Given the description of an element on the screen output the (x, y) to click on. 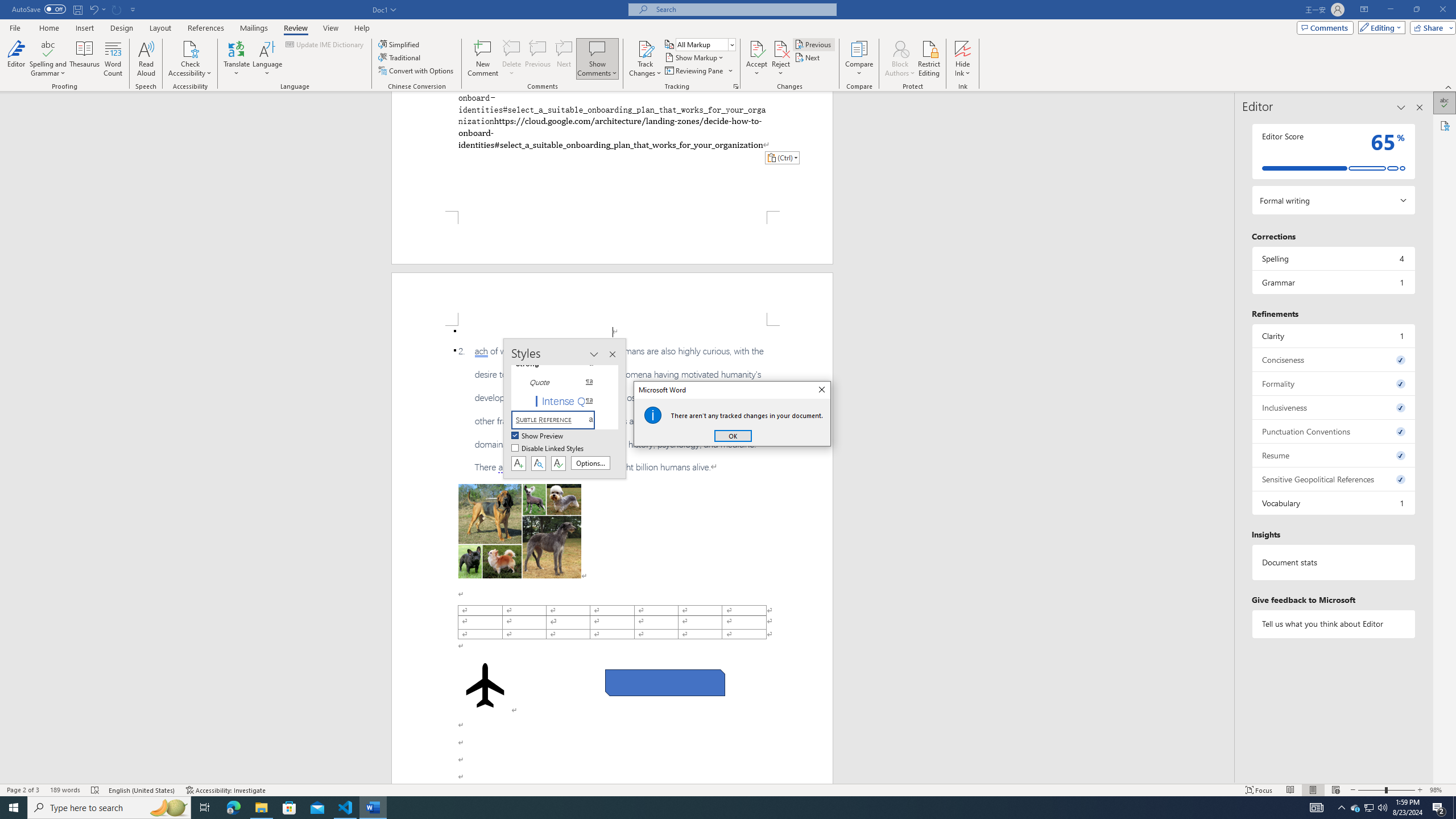
Subtle Reference (559, 419)
Disable Linked Styles (548, 448)
Spelling and Grammar (48, 58)
Options... (590, 463)
Check Accessibility (189, 58)
Delete (511, 58)
Compare (859, 58)
Block Authors (900, 48)
Reject and Move to Next (780, 48)
